Given the description of an element on the screen output the (x, y) to click on. 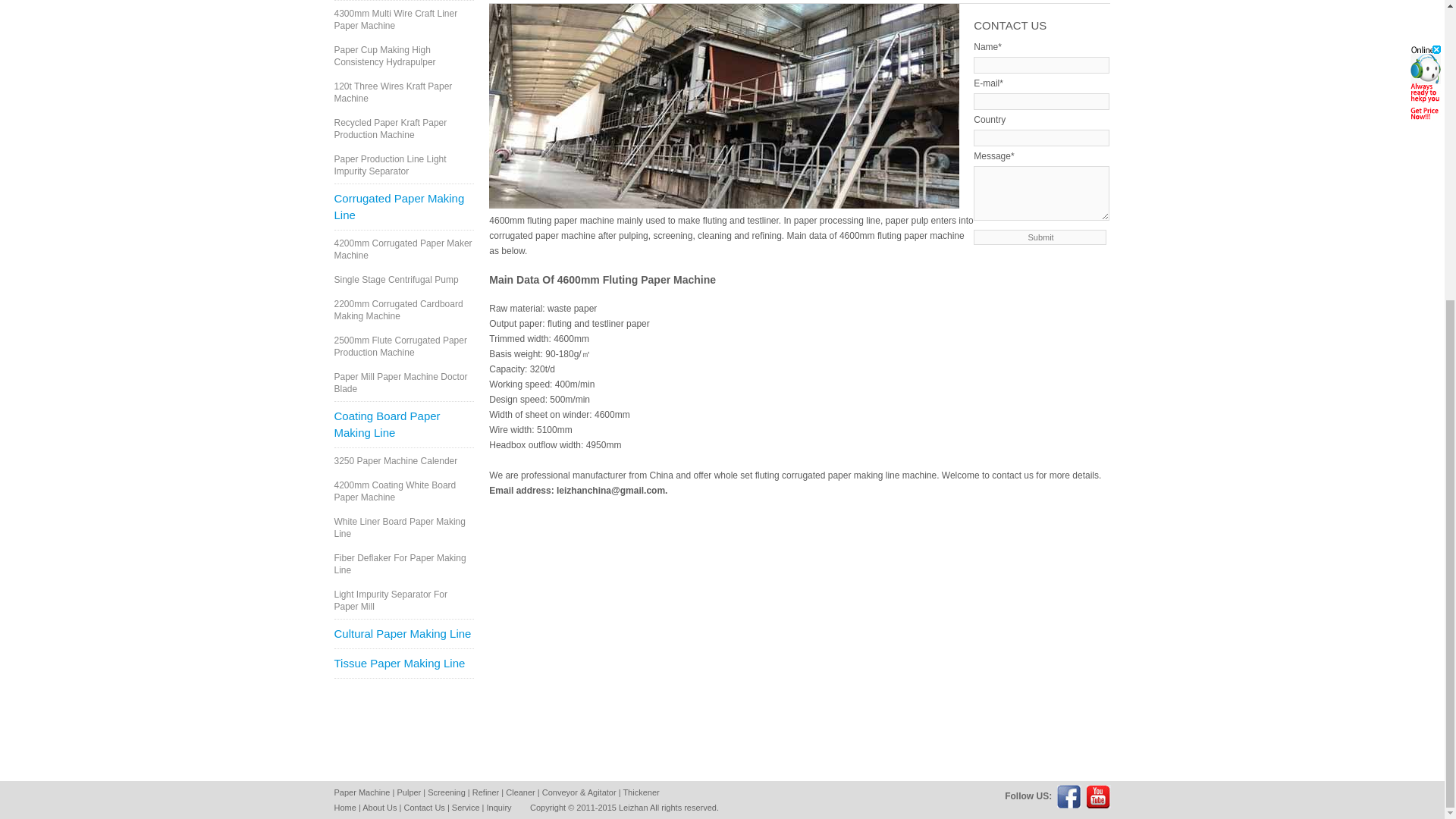
Submit (1040, 237)
